Given the description of an element on the screen output the (x, y) to click on. 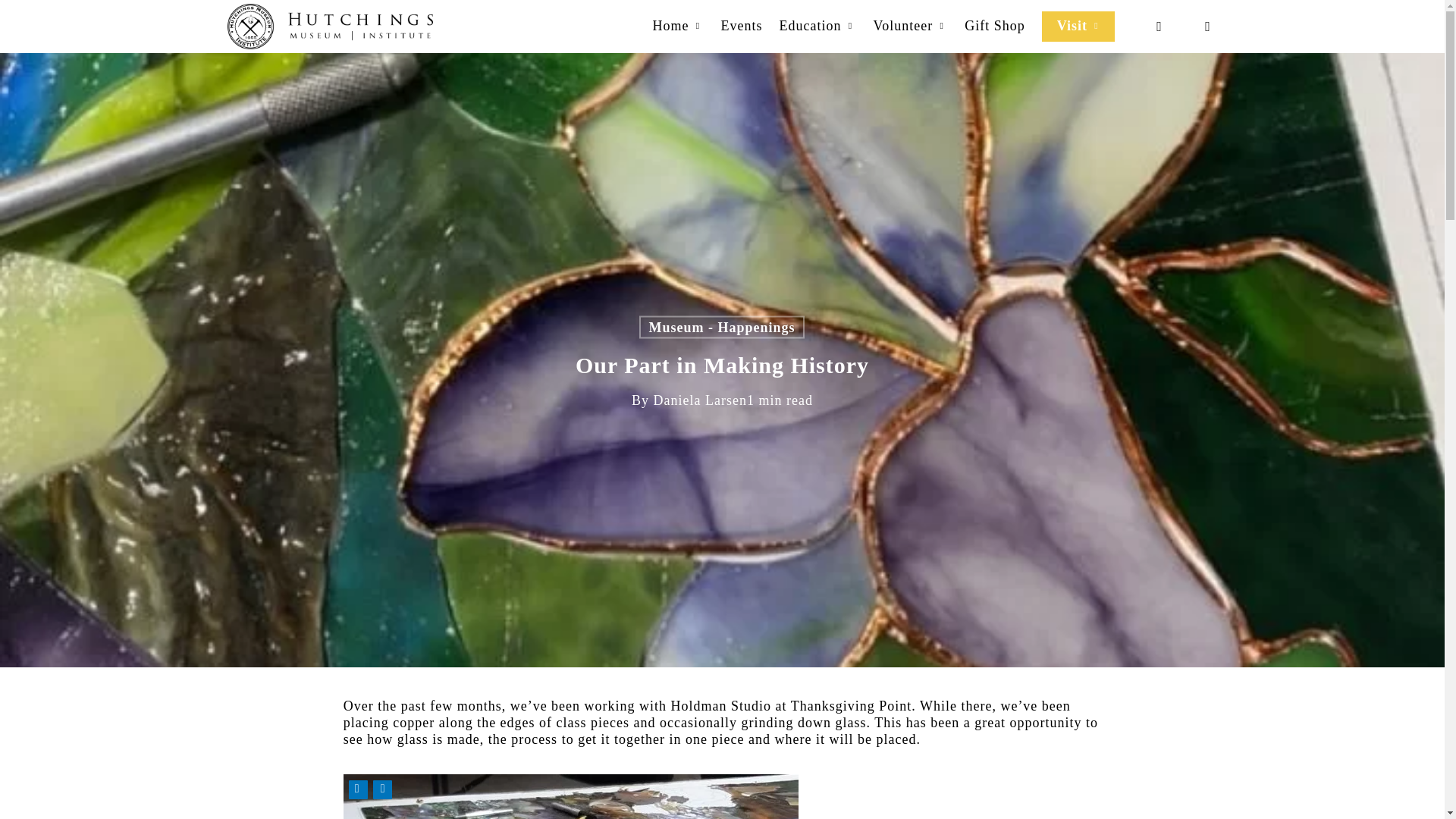
Museum - Happenings (721, 326)
Visit (1078, 26)
Posts by Daniela Larsen (699, 400)
Education (817, 26)
search (1207, 26)
Gift Shop (994, 26)
Events (740, 26)
Volunteer (909, 26)
Daniela Larsen (699, 400)
Home (677, 26)
phone (1159, 26)
3 Stained Glass (570, 796)
